Given the description of an element on the screen output the (x, y) to click on. 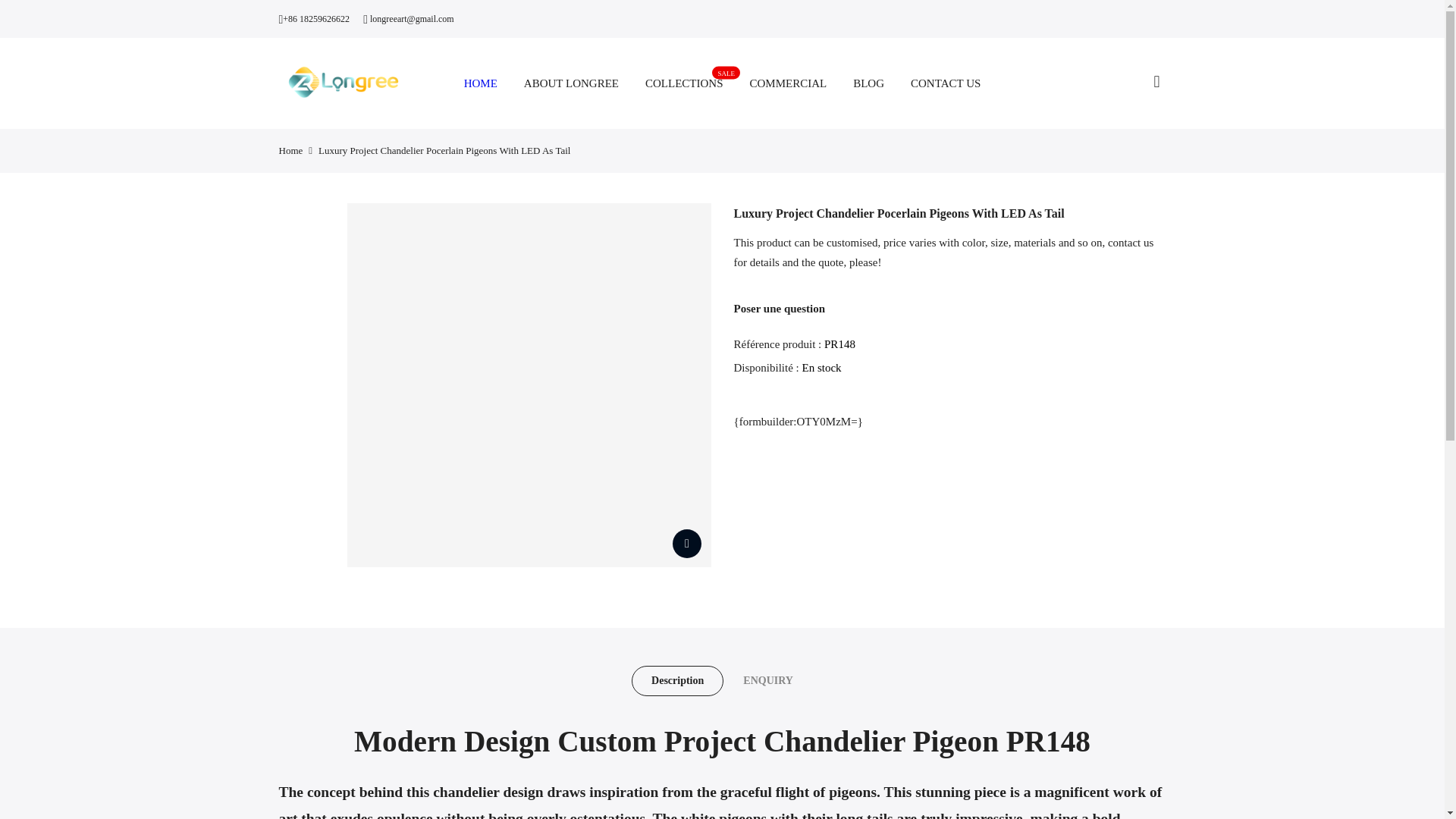
Poser une question (779, 308)
CONTACT US (946, 82)
ARCHITECTURAL LIGHTINGS (584, 544)
GLASS WALL PLATES (683, 82)
Longree (563, 597)
News (856, 794)
Home (701, 544)
DECORATIVE LIGHTINGS (290, 150)
OUTDOOR LIGHTINGS (574, 491)
